Given the description of an element on the screen output the (x, y) to click on. 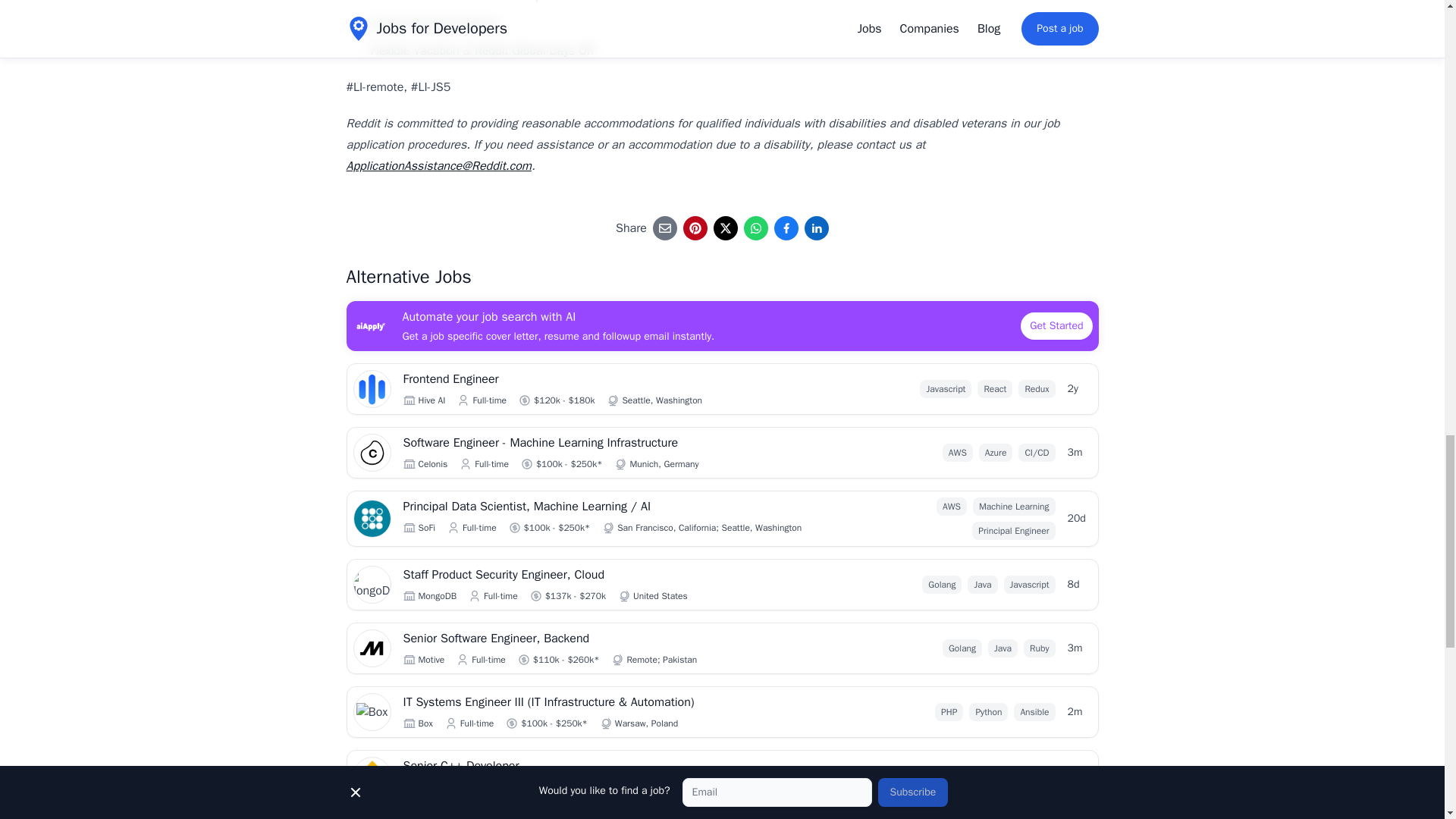
Seattle, Washington (661, 399)
Frontend Engineer (593, 379)
Share on Facebook (785, 228)
share via email (664, 228)
Share via WhatsApp (756, 228)
Software Engineer - Machine Learning Infrastructure (593, 443)
Frontend Engineer (593, 379)
Share on LinkedIn (816, 228)
Share on X (725, 228)
Munich, Germany (663, 463)
Share on Pinterest (694, 228)
